Given the description of an element on the screen output the (x, y) to click on. 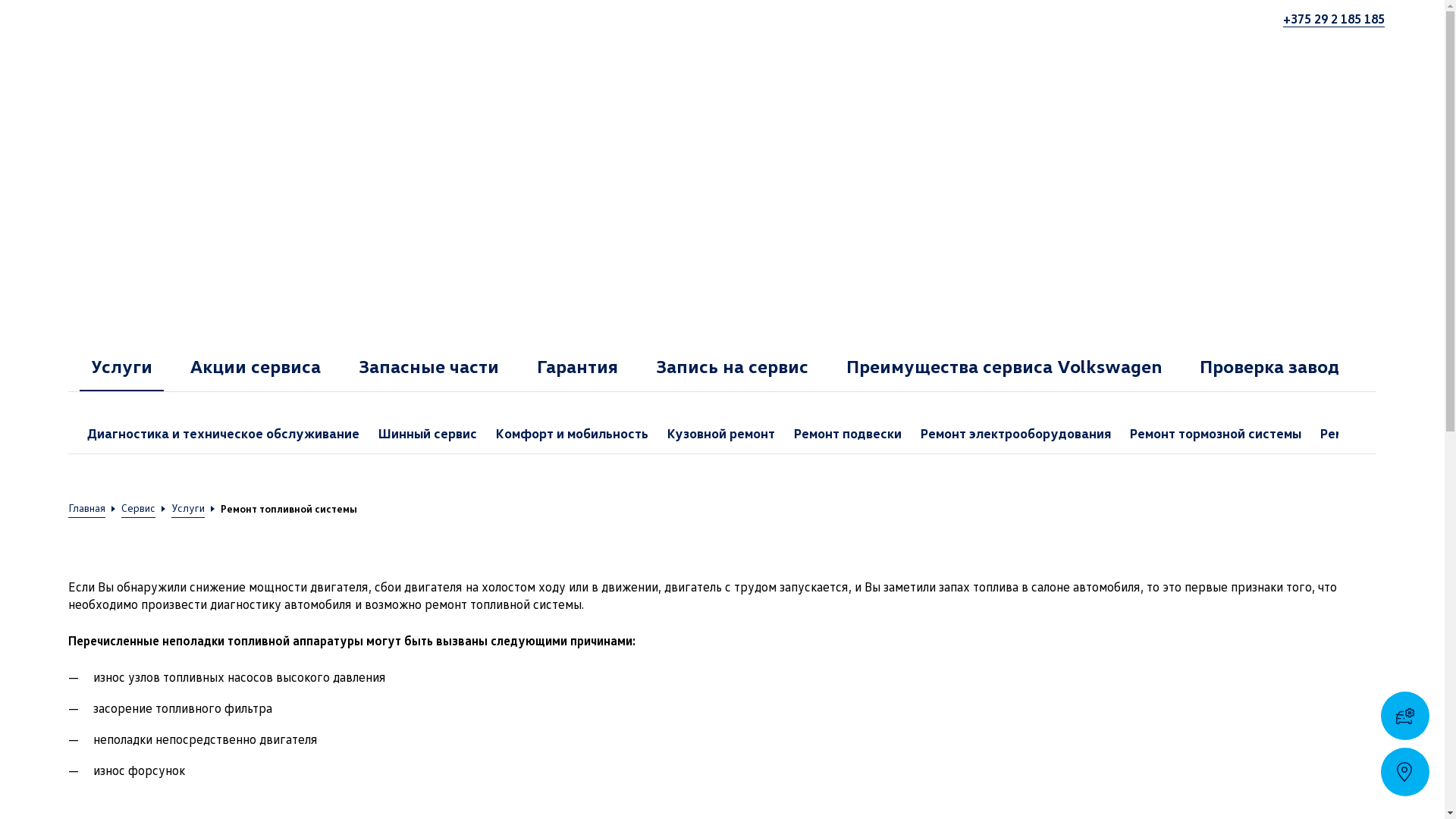
+375 29 2 185 185 Element type: text (1333, 18)
